Given the description of an element on the screen output the (x, y) to click on. 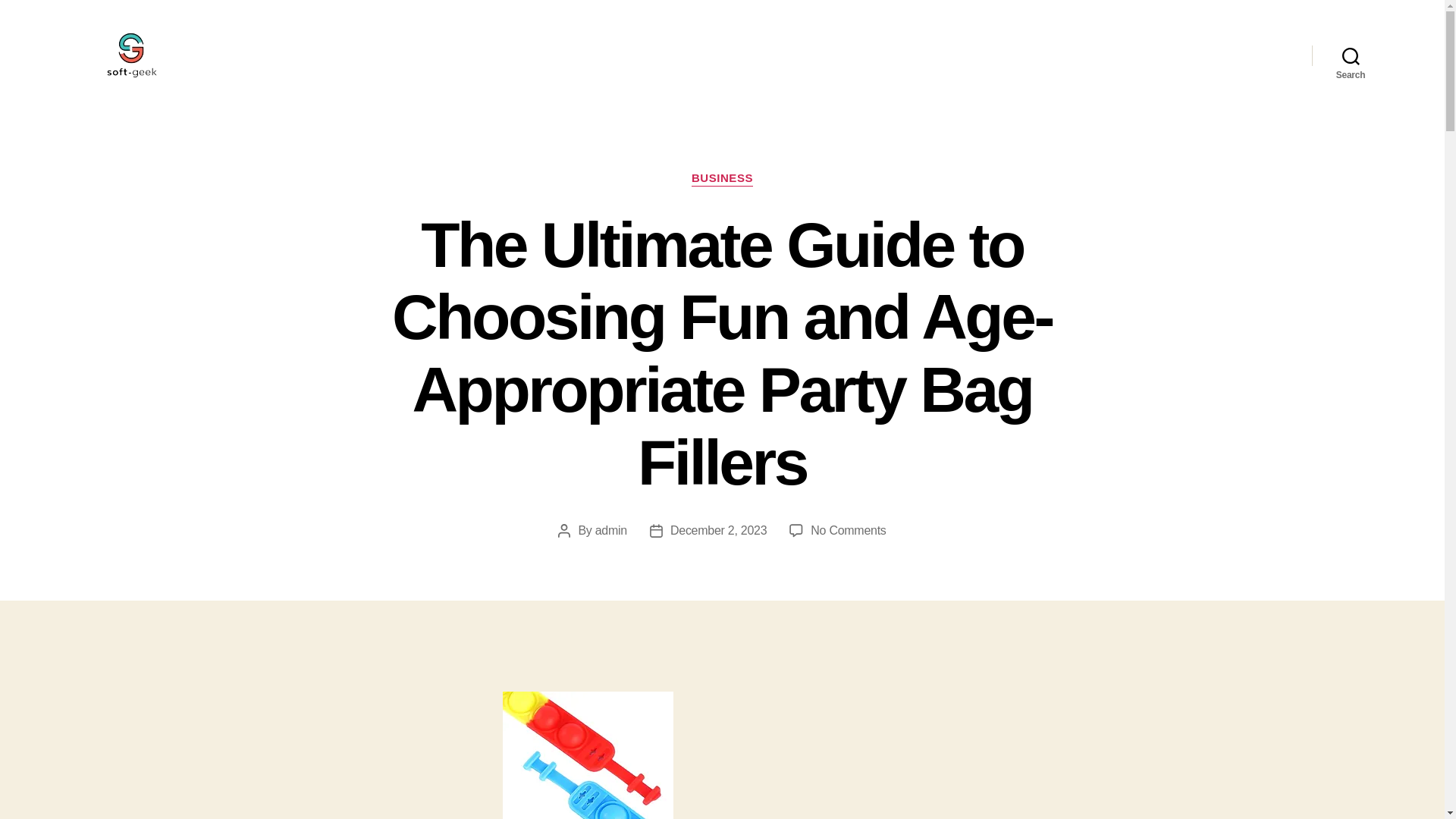
admin (611, 530)
BUSINESS (721, 178)
Search (1350, 55)
December 2, 2023 (718, 530)
